Given the description of an element on the screen output the (x, y) to click on. 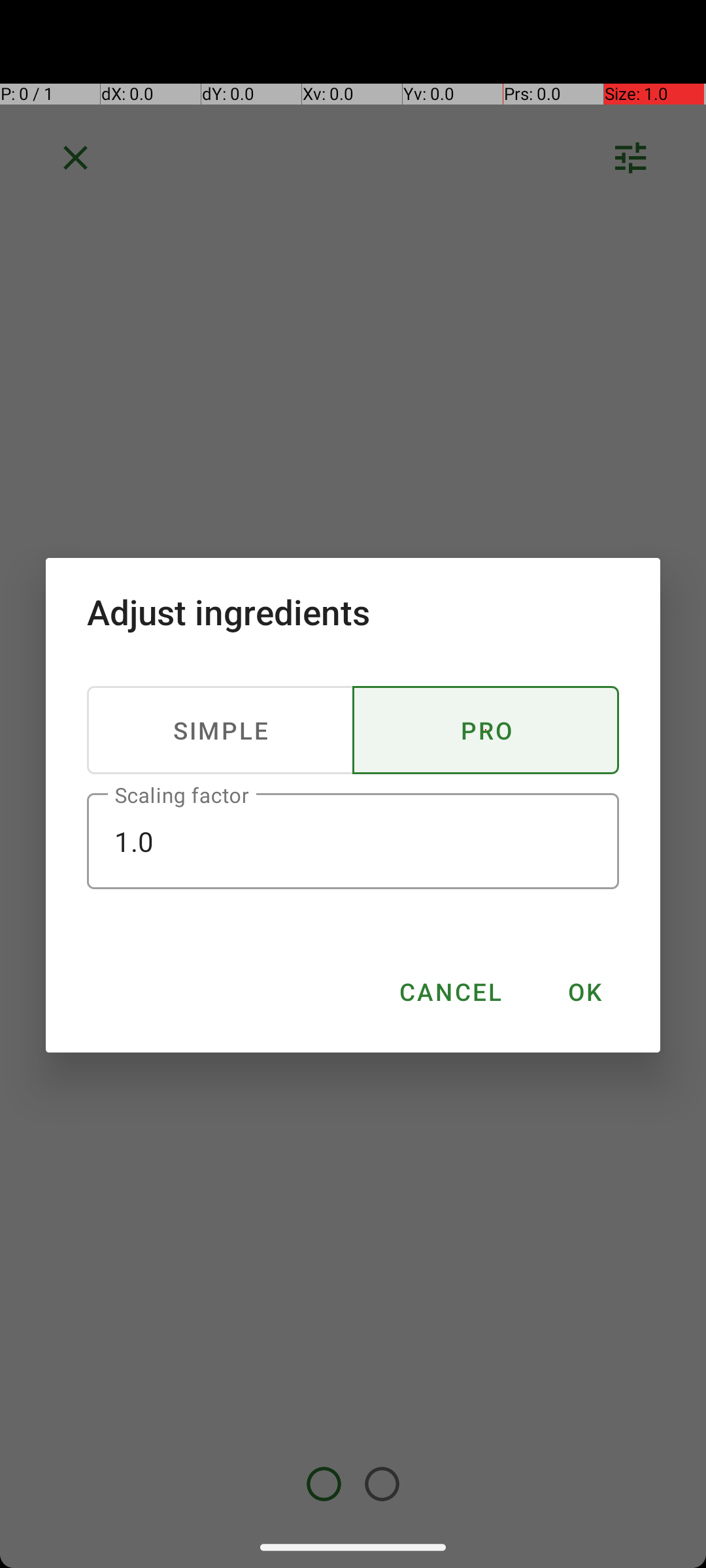
1.0 Element type: android.widget.EditText (352, 841)
